Given the description of an element on the screen output the (x, y) to click on. 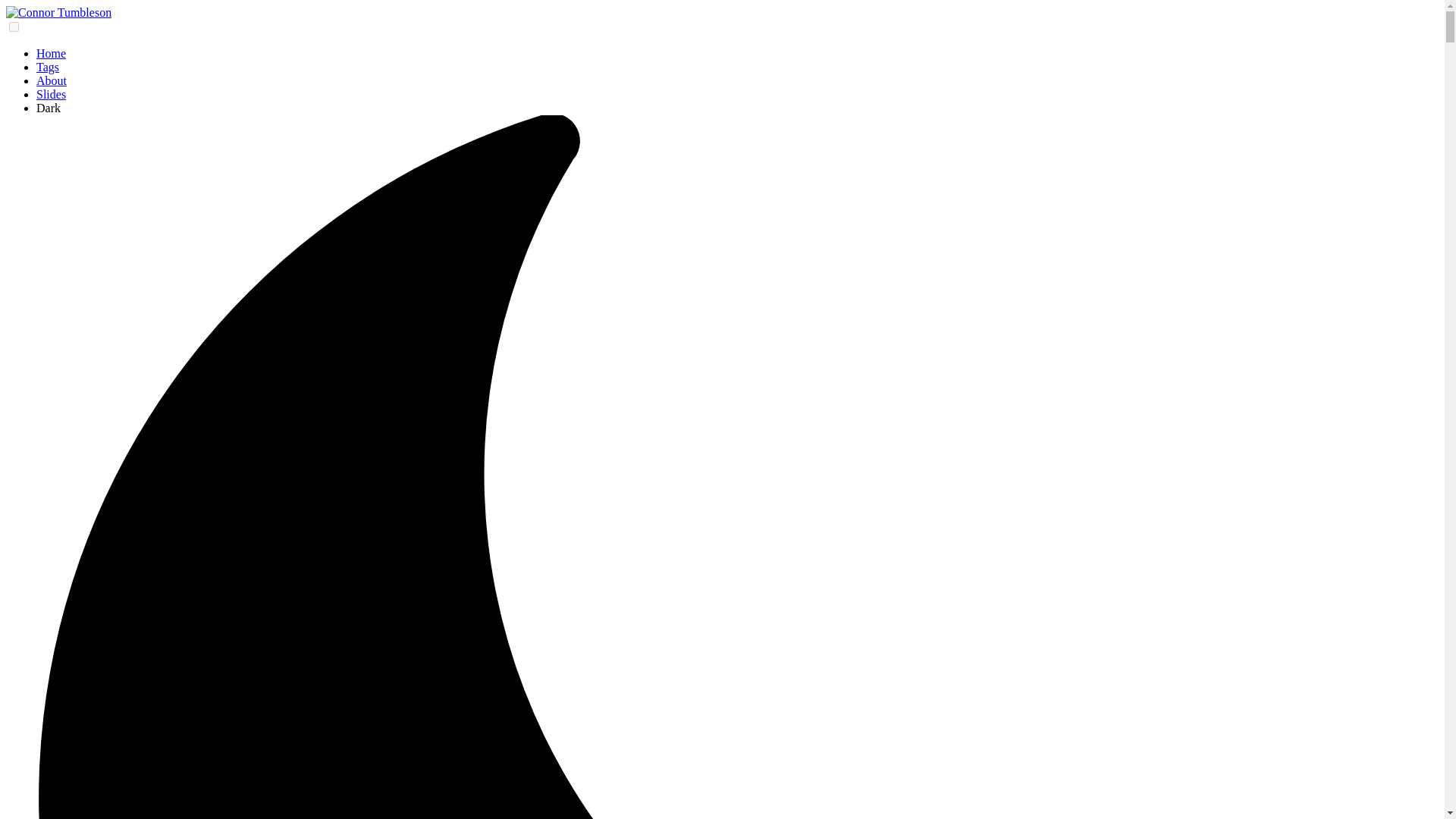
on (13, 26)
Home (50, 52)
About (51, 80)
Tags (47, 66)
Slides (50, 93)
